Given the description of an element on the screen output the (x, y) to click on. 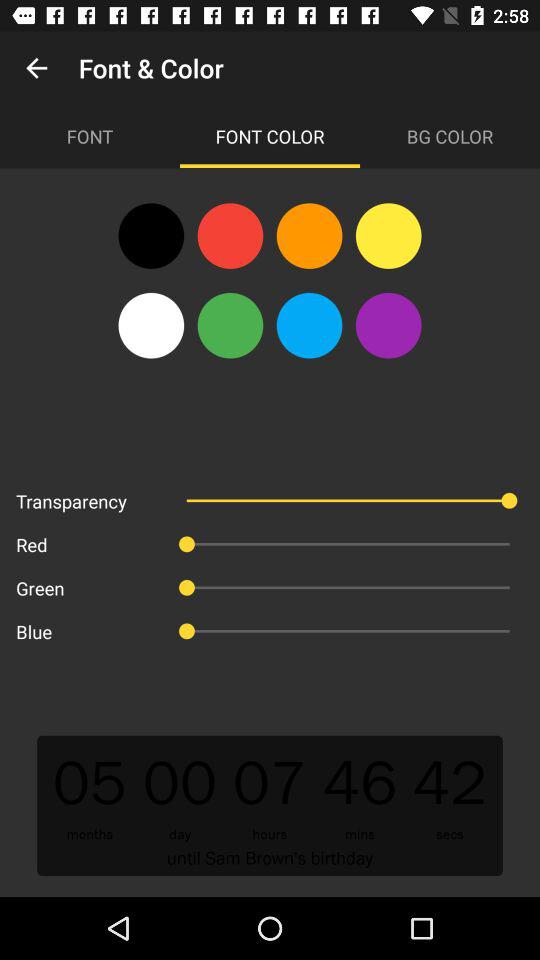
open item to the right of font color icon (450, 136)
